Given the description of an element on the screen output the (x, y) to click on. 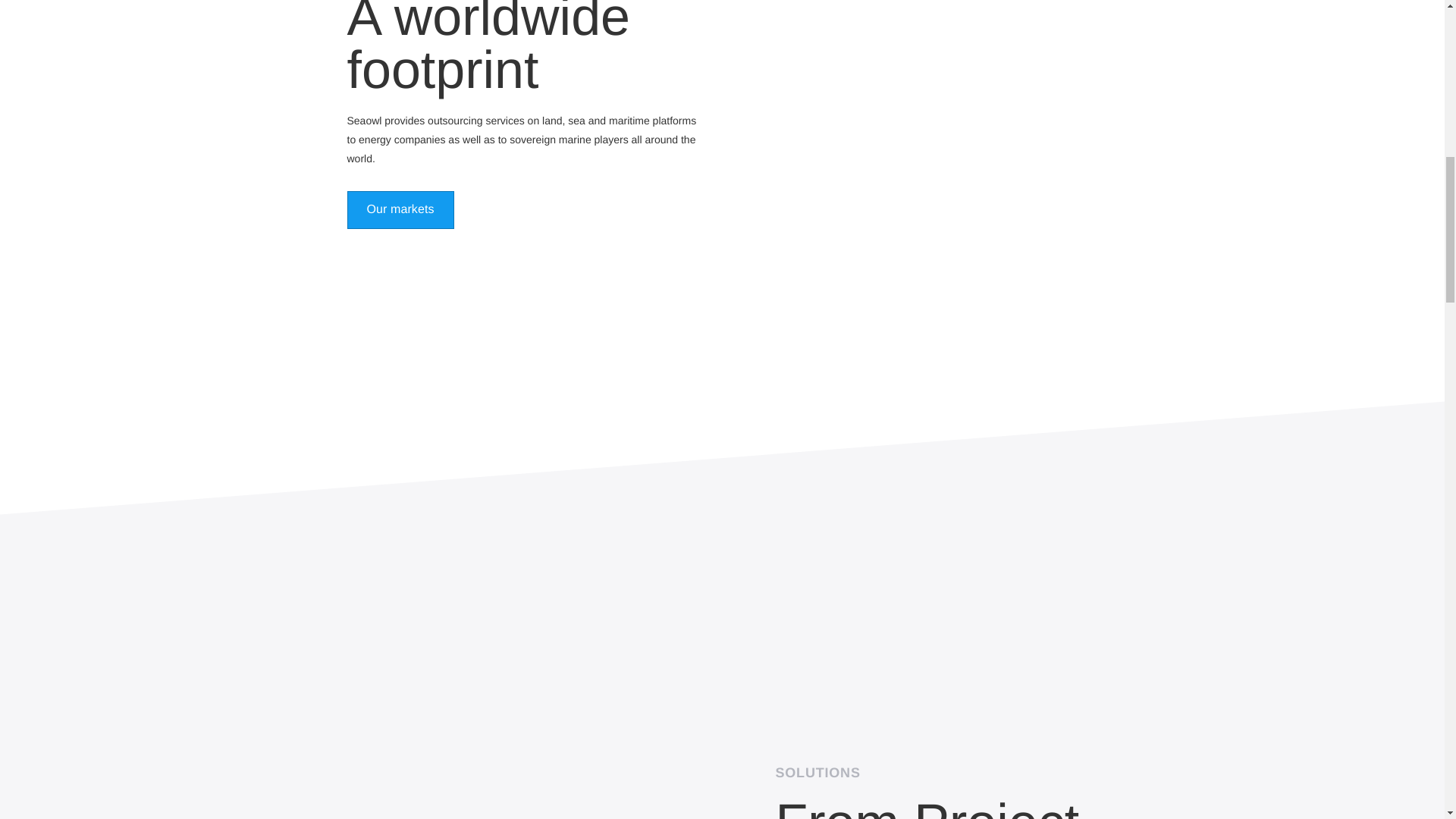
Our markets (400, 209)
